Given the description of an element on the screen output the (x, y) to click on. 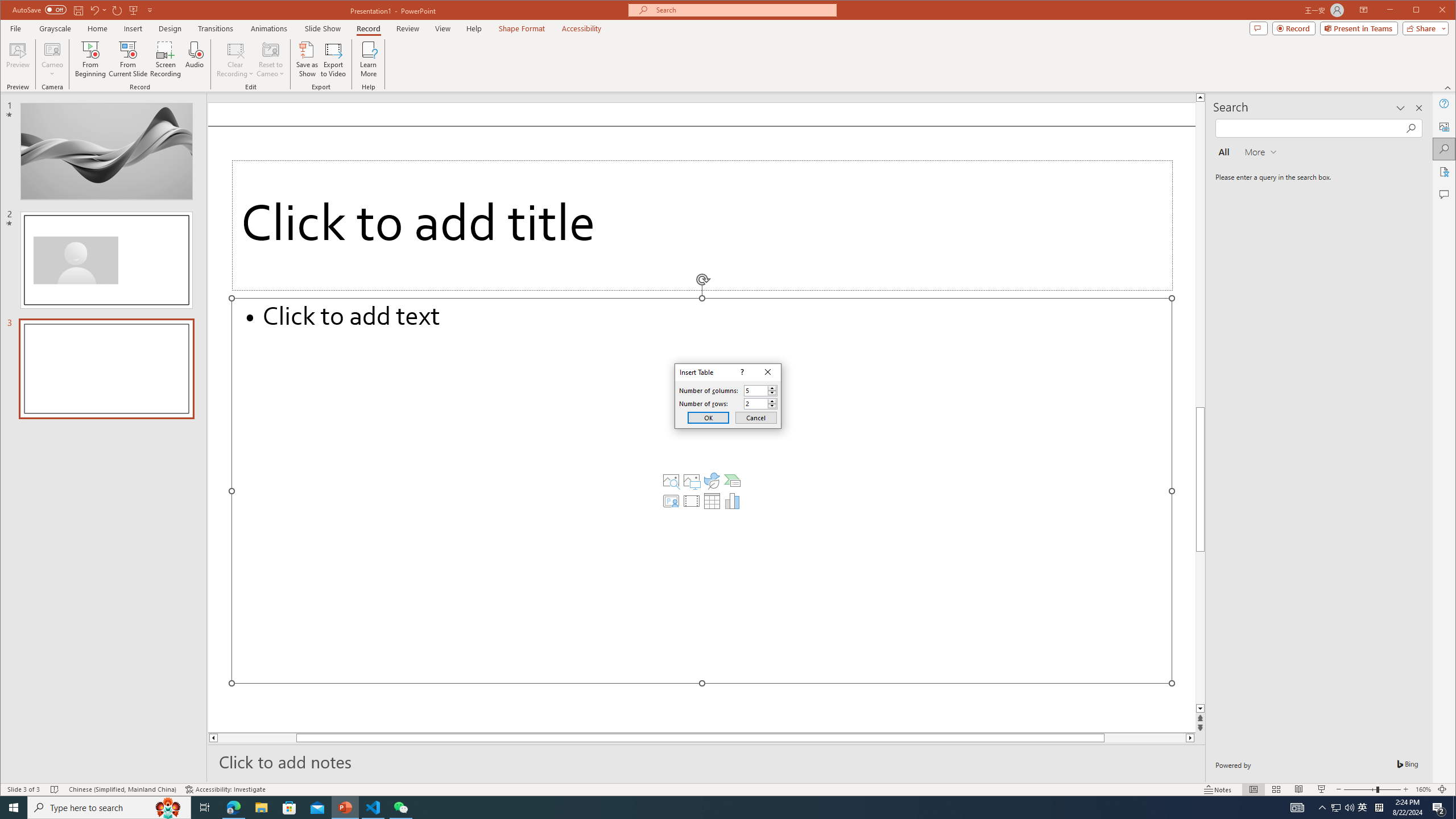
Maximize (1432, 11)
More (772, 400)
Pictures (691, 480)
Audio (194, 59)
Stock Images (670, 480)
